Given the description of an element on the screen output the (x, y) to click on. 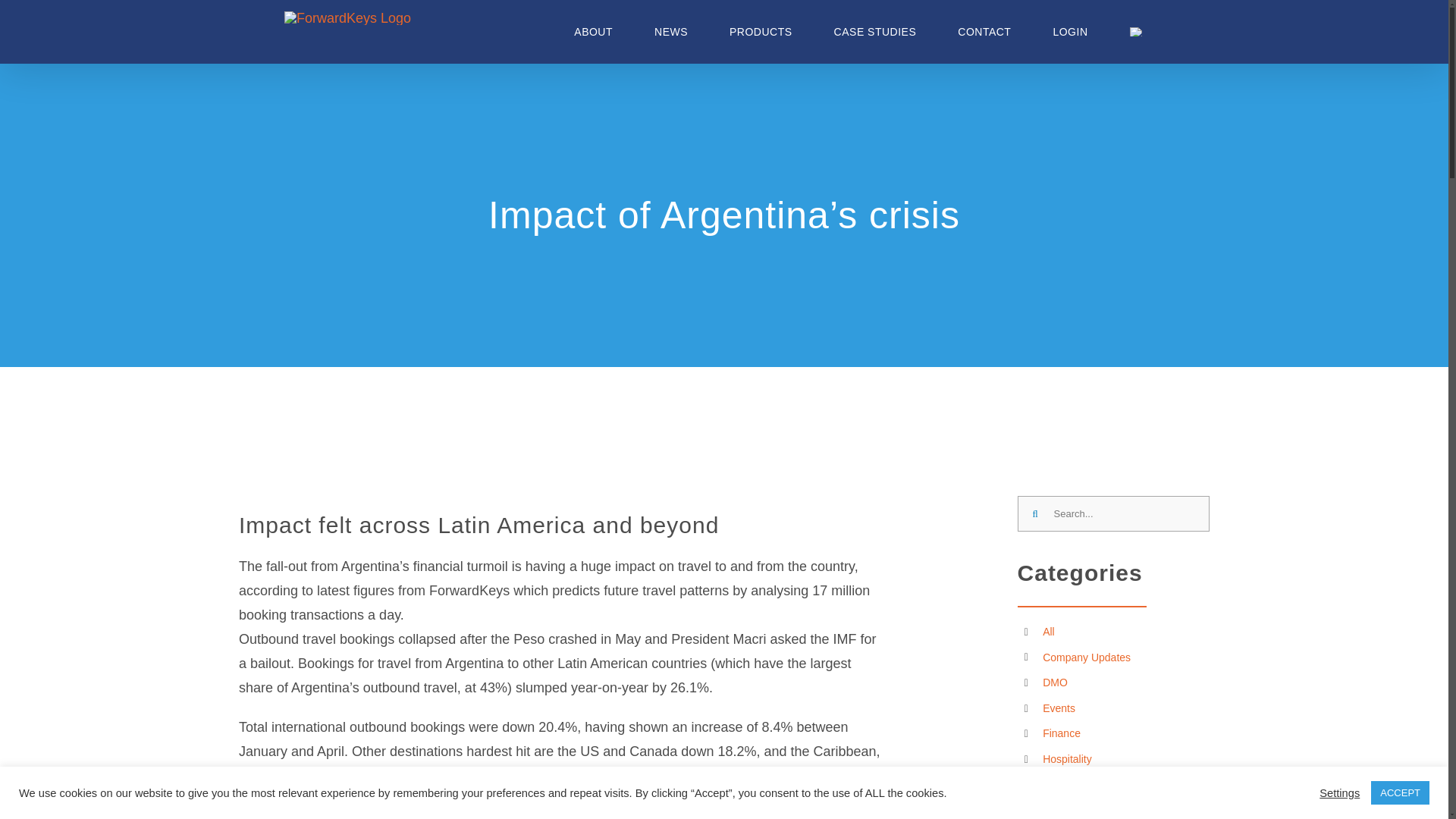
LOGIN (1070, 31)
PRODUCTS (761, 31)
CONTACT (984, 31)
CASE STUDIES (874, 31)
ABOUT (593, 31)
NEWS (671, 31)
